Given the description of an element on the screen output the (x, y) to click on. 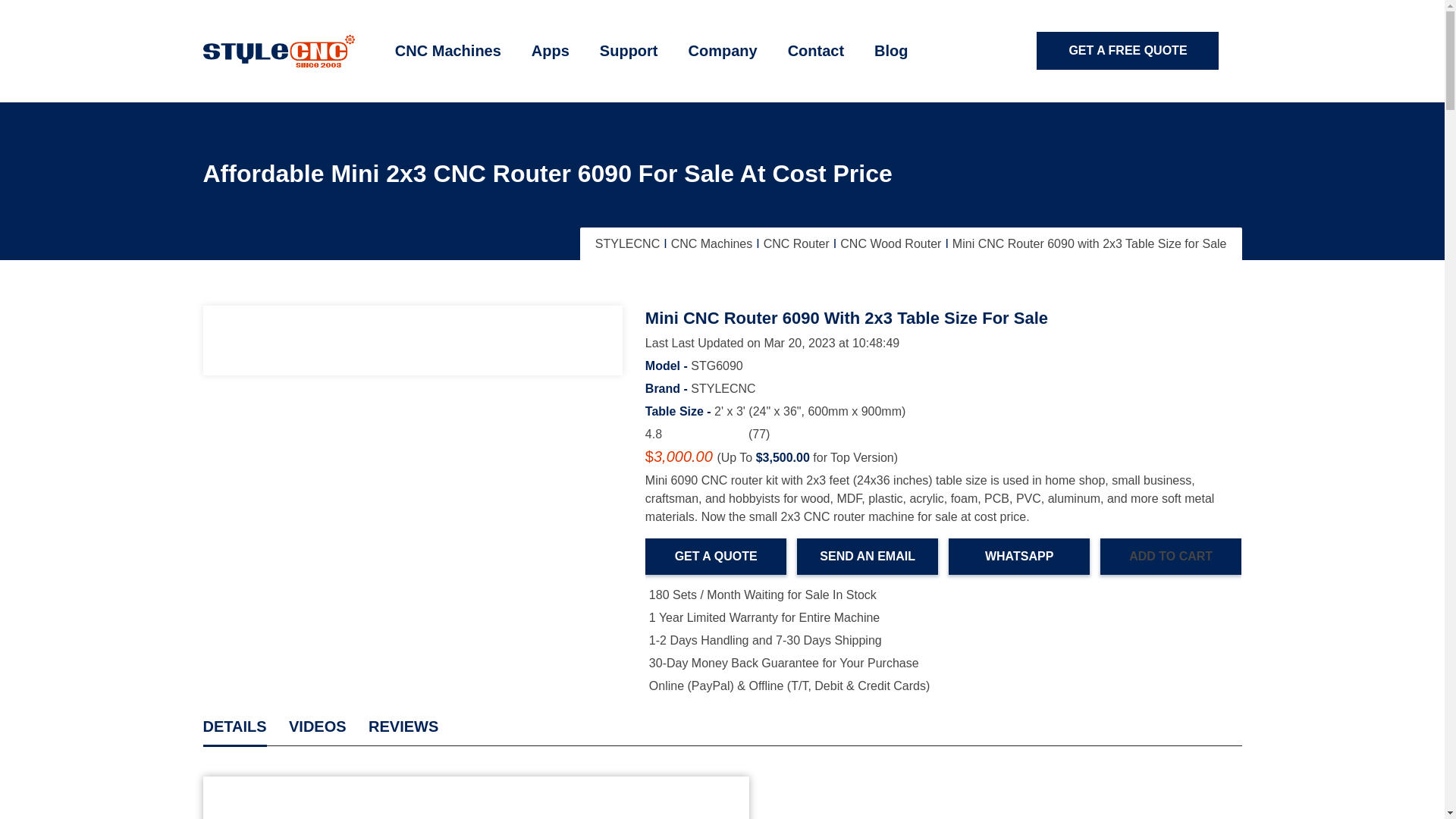
STYLECNC (279, 51)
Apps (550, 51)
CNC Machines (448, 51)
STYLECNC (279, 50)
CNC Machines (448, 51)
